Given the description of an element on the screen output the (x, y) to click on. 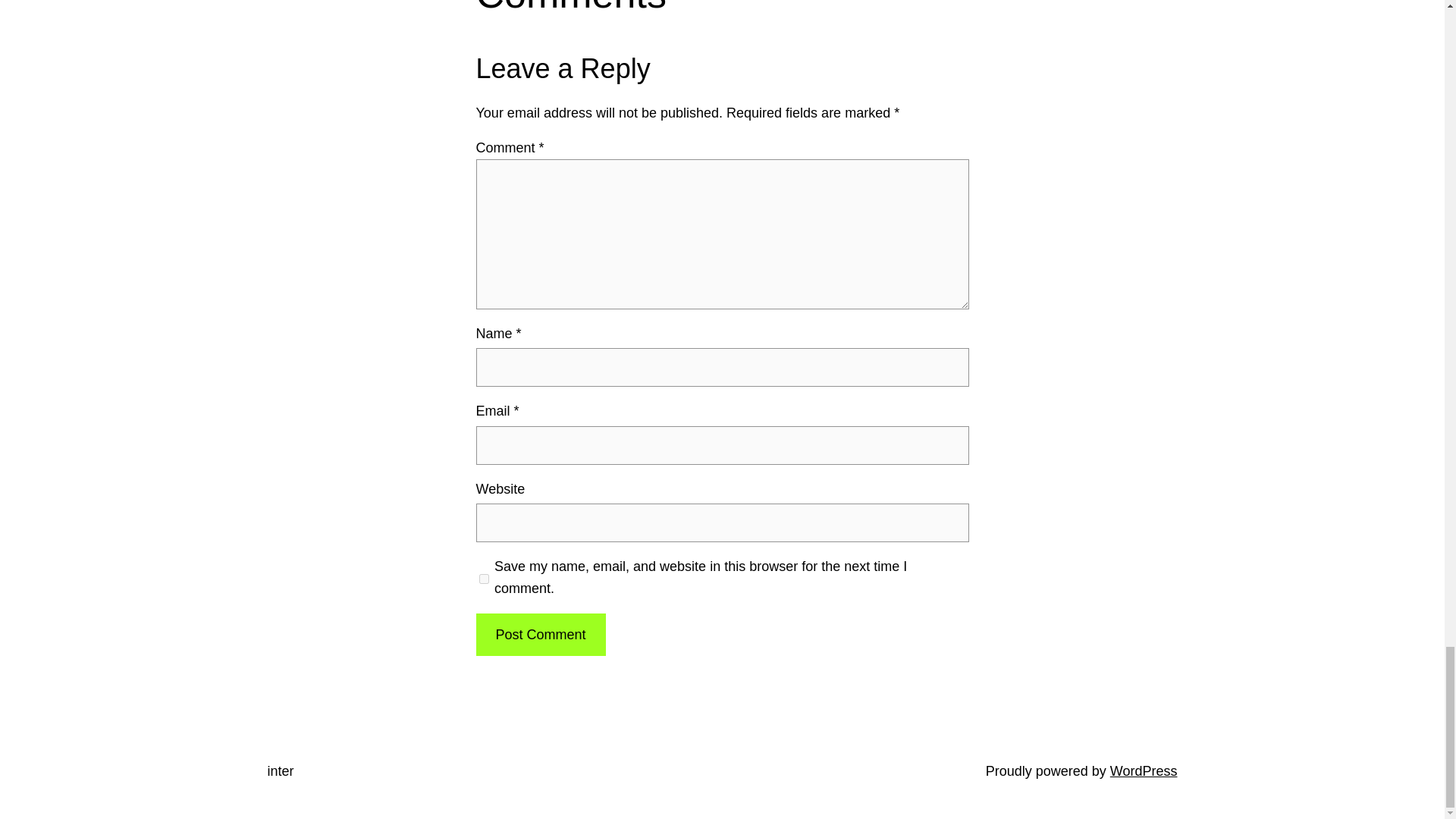
WordPress (1143, 770)
Post Comment (540, 634)
Post Comment (540, 634)
inter (280, 770)
